Given the description of an element on the screen output the (x, y) to click on. 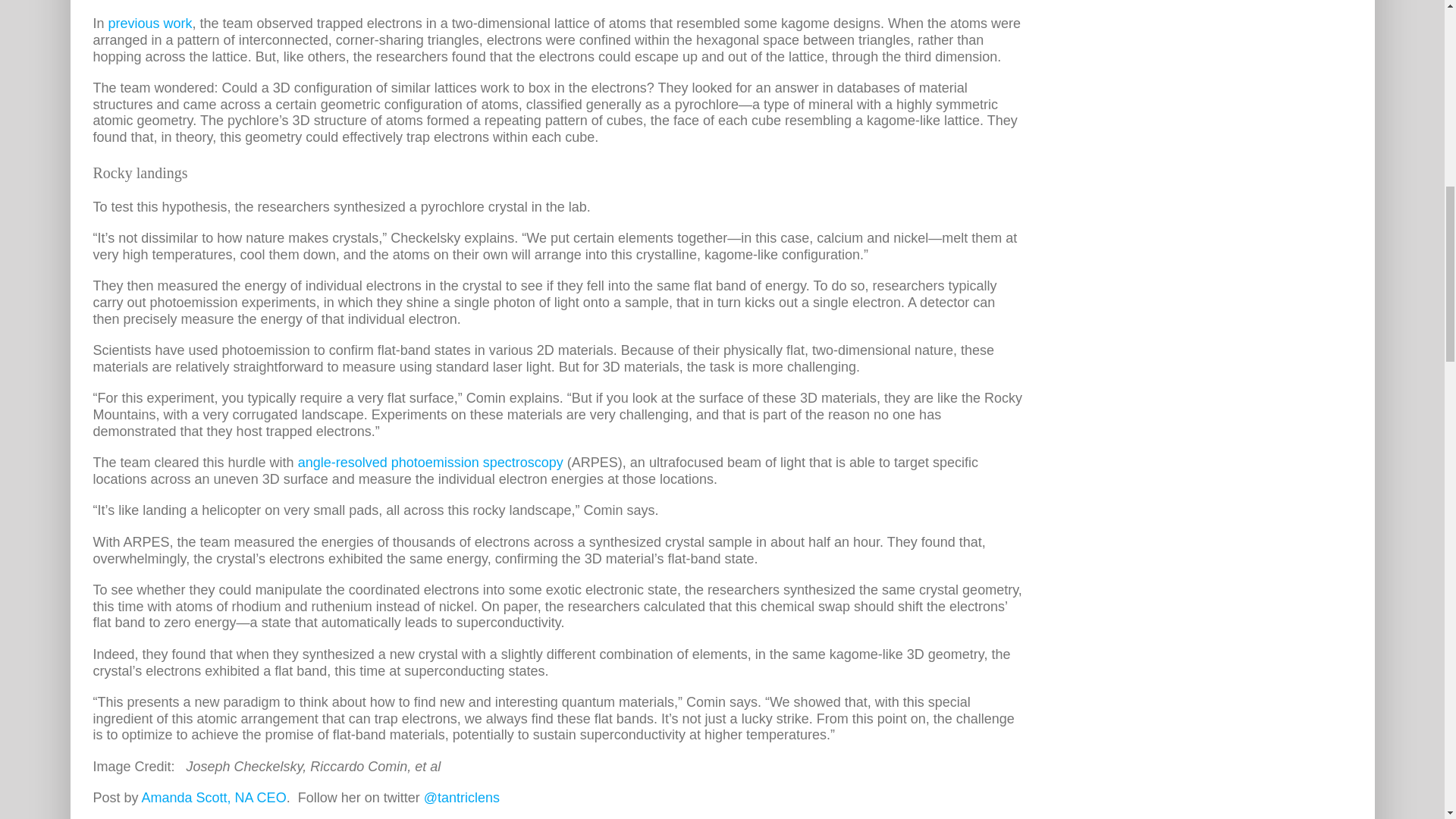
angle-resolved photoemission spectroscopy (430, 462)
Amanda Scott, NA CEO (213, 797)
previous work (149, 23)
